Given the description of an element on the screen output the (x, y) to click on. 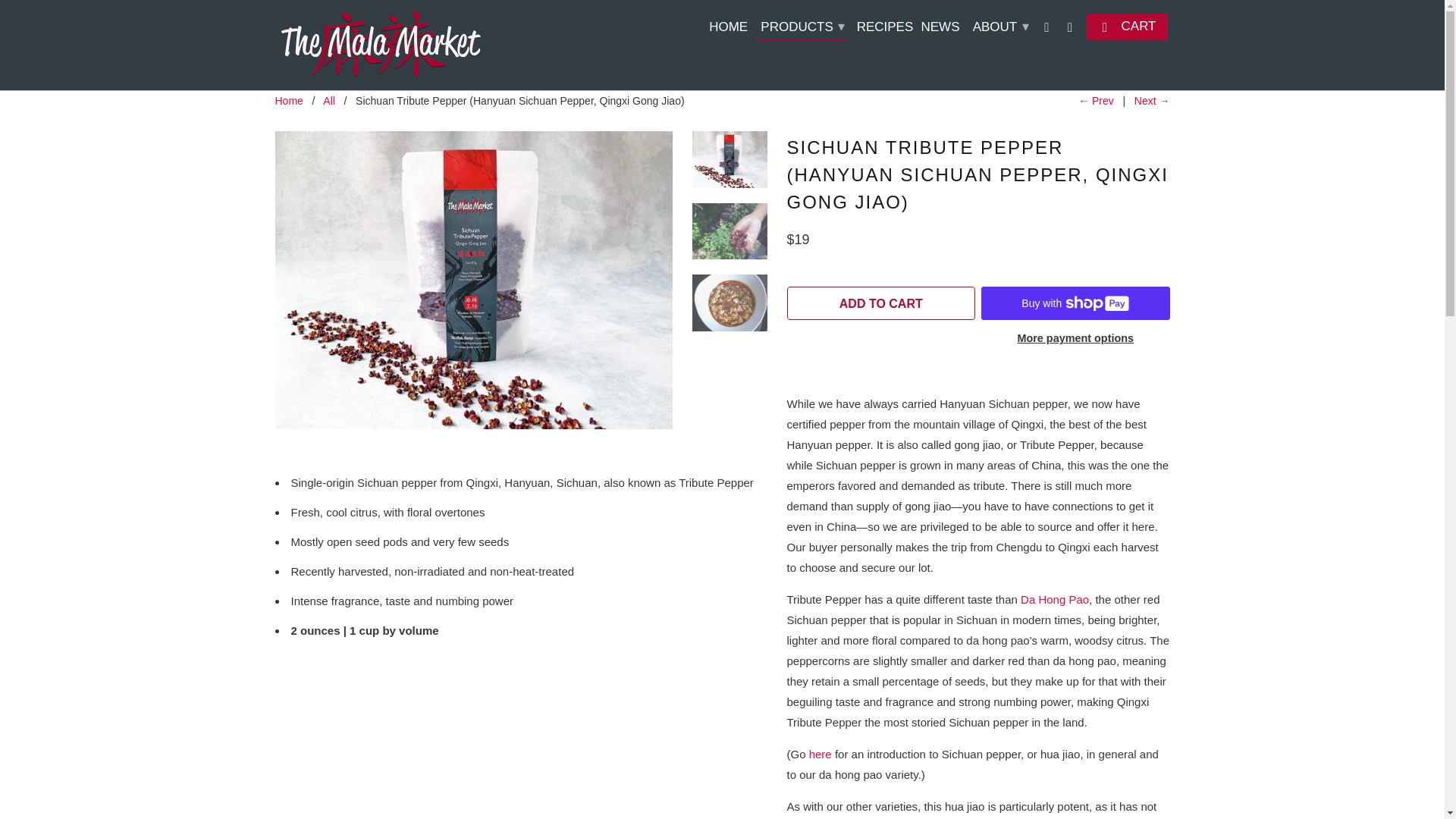
More payment options (1075, 343)
Da Hong Pao Sichuan Pepper (1054, 599)
ADD TO CART (881, 303)
All (328, 101)
here (820, 753)
Da Hong Pao (1054, 599)
Da Hong Pao Sichuan Pepper (820, 753)
All (328, 101)
Home (288, 101)
The Mala Market (288, 101)
